Given the description of an element on the screen output the (x, y) to click on. 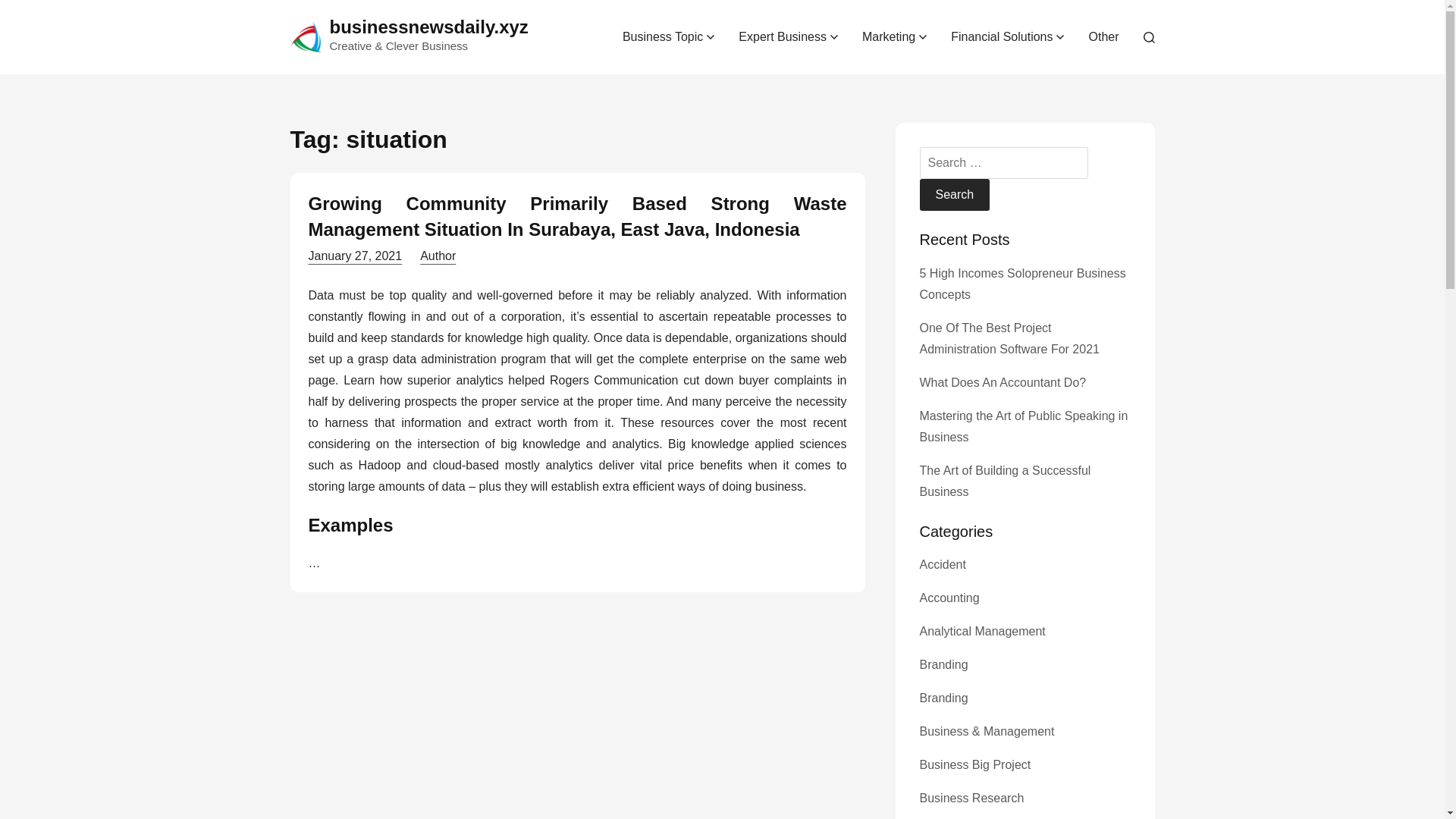
January 27, 2021 (354, 255)
Marketing (894, 36)
Search (954, 194)
Expert Business (788, 36)
Author (437, 255)
Financial Solutions (1007, 36)
Search (954, 194)
Search (954, 194)
Other (1103, 36)
businessnewsdaily.xyz (428, 26)
Business Topic (668, 36)
